Given the description of an element on the screen output the (x, y) to click on. 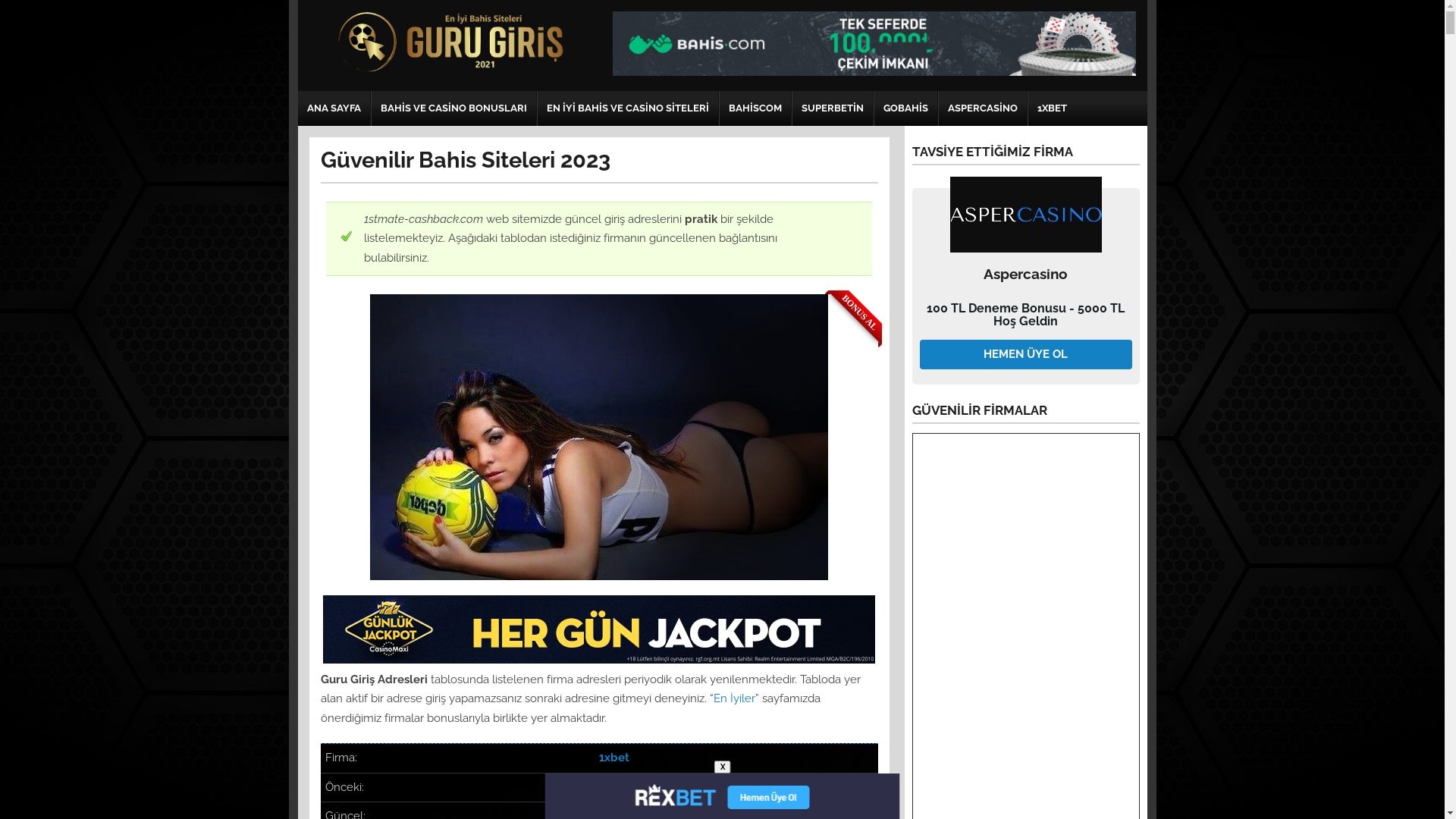
1xlite-317607 Element type: text (632, 786)
ASPERCASINO Element type: text (982, 108)
X Element type: text (722, 766)
BONUS AL Element type: text (598, 437)
1XBET Element type: text (1052, 108)
BAHISCOM Element type: text (754, 108)
BAHIS VE CASINO BONUSLARI Element type: text (453, 108)
1xbet Element type: text (614, 757)
GOBAHIS Element type: text (904, 108)
ANA SAYFA Element type: text (333, 108)
SUPERBETIN Element type: text (831, 108)
